Given the description of an element on the screen output the (x, y) to click on. 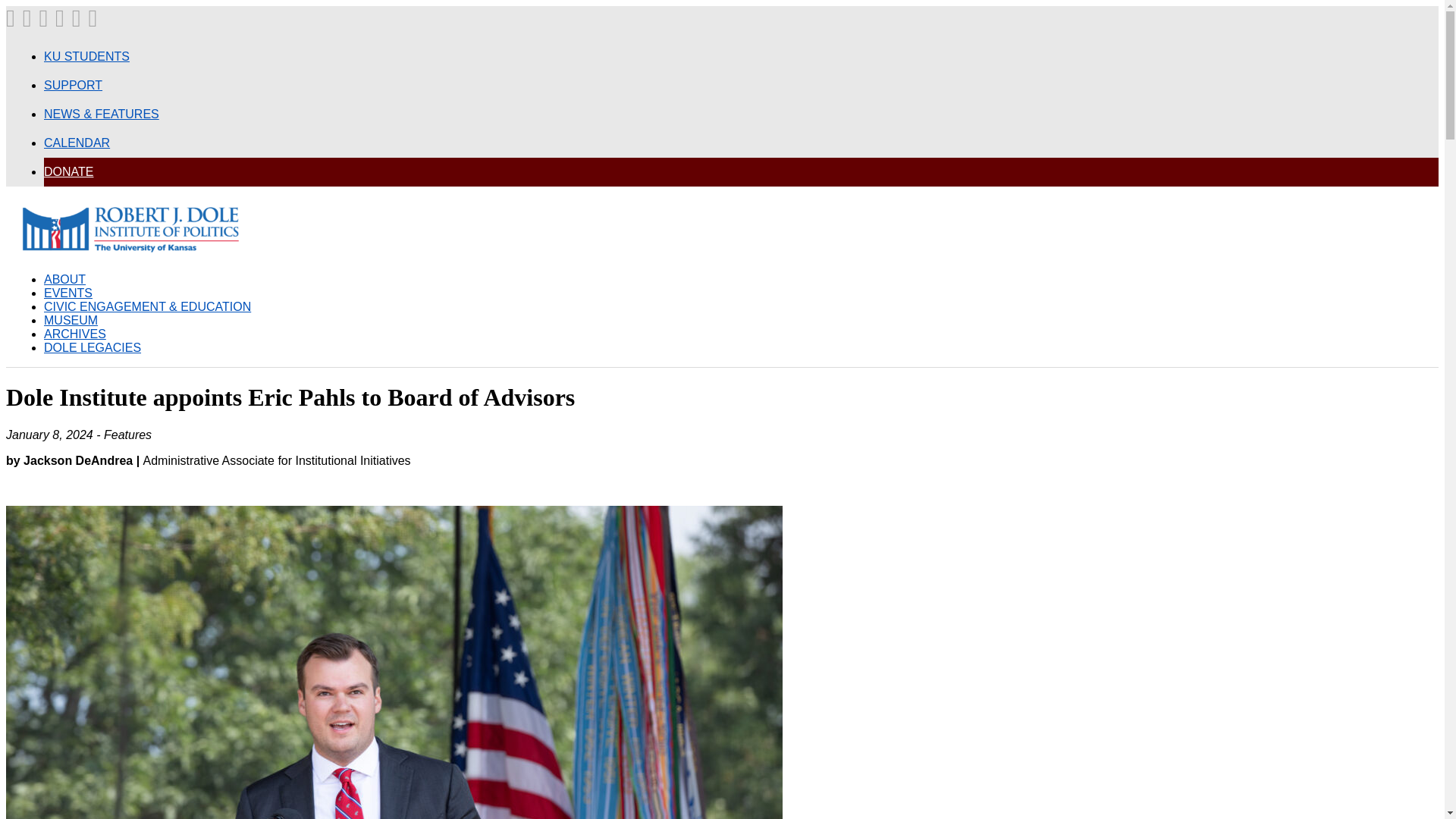
SUPPORT (72, 84)
ARCHIVES (74, 333)
CALENDAR (76, 142)
MUSEUM (70, 319)
KU STUDENTS (86, 56)
ABOUT (64, 278)
EVENTS (68, 292)
DOLE LEGACIES (92, 347)
DONATE (68, 171)
